Given the description of an element on the screen output the (x, y) to click on. 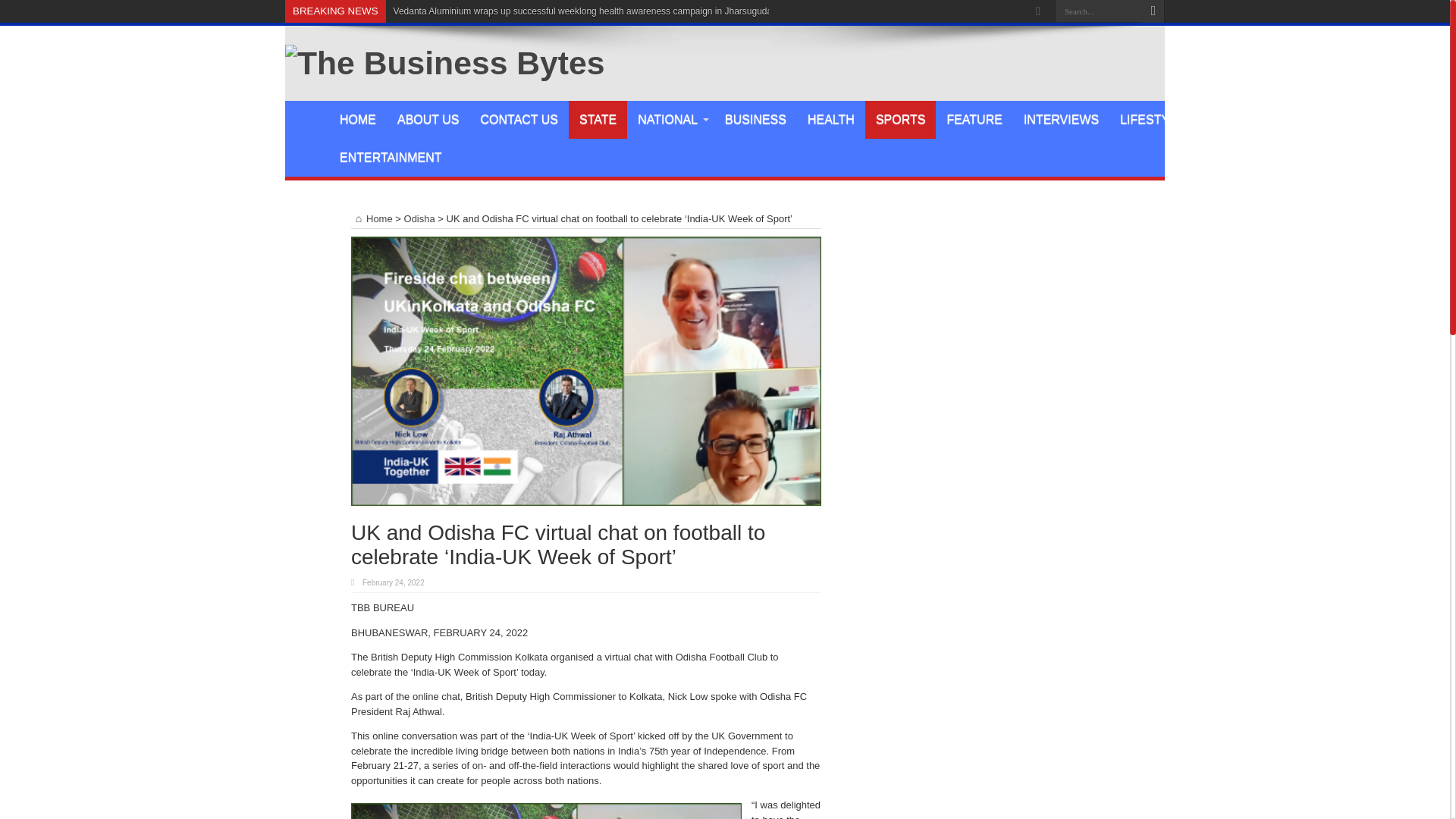
Odisha (419, 218)
INTERVIEWS (1061, 119)
Search... (1097, 11)
The Business Bytes (444, 63)
HEALTH (830, 119)
SPORTS (900, 119)
NATIONAL (670, 119)
Home (371, 218)
